Given the description of an element on the screen output the (x, y) to click on. 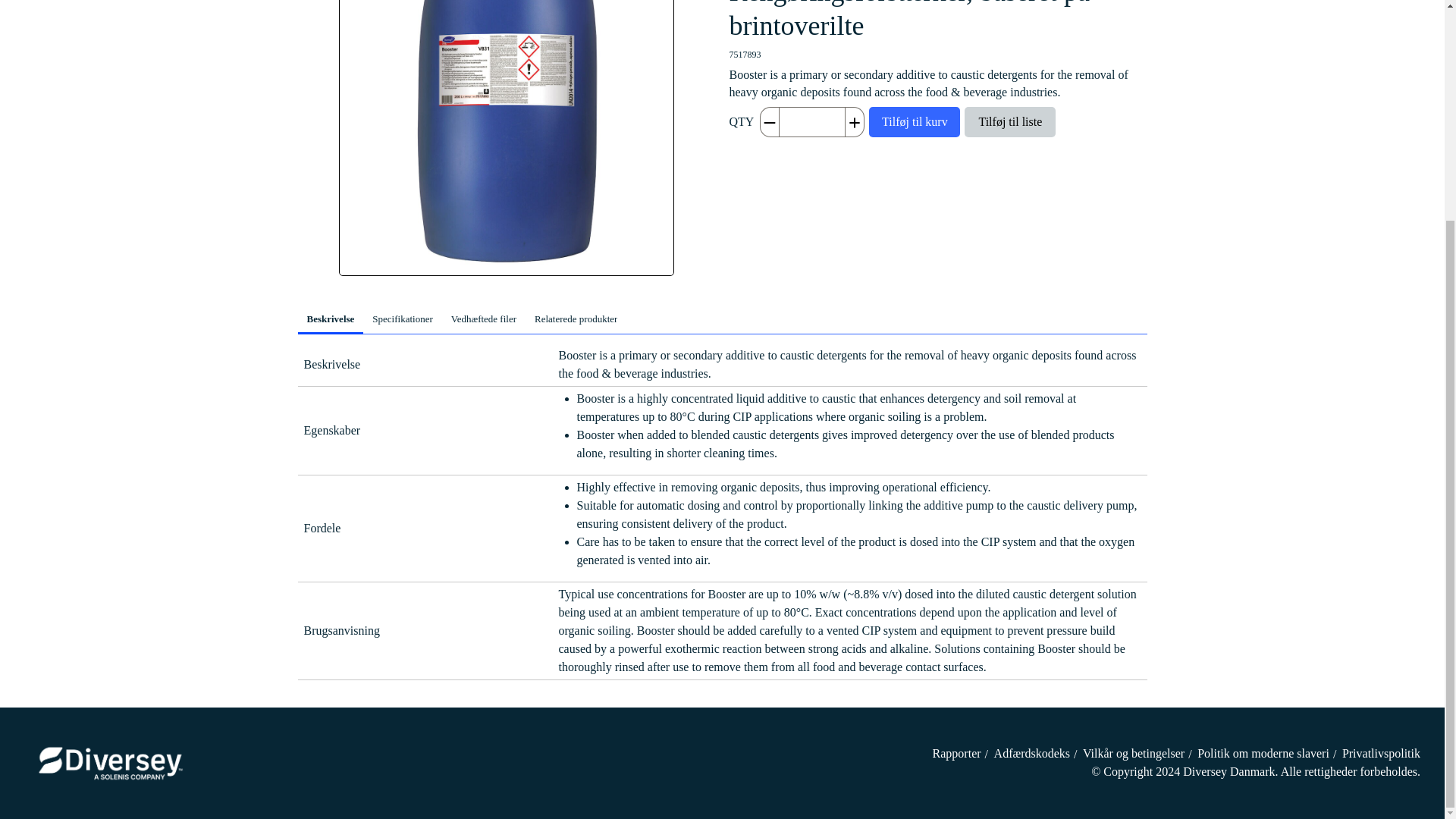
Specifikationer (402, 318)
Relaterede produkter (575, 318)
Politik om moderne slaveri (1262, 753)
Rapporter (957, 753)
Specifikationer (401, 318)
Beskrivelse (329, 318)
Beskrivelse (329, 318)
Relaterede produkter (575, 318)
Privatlivspolitik (1381, 753)
